Given the description of an element on the screen output the (x, y) to click on. 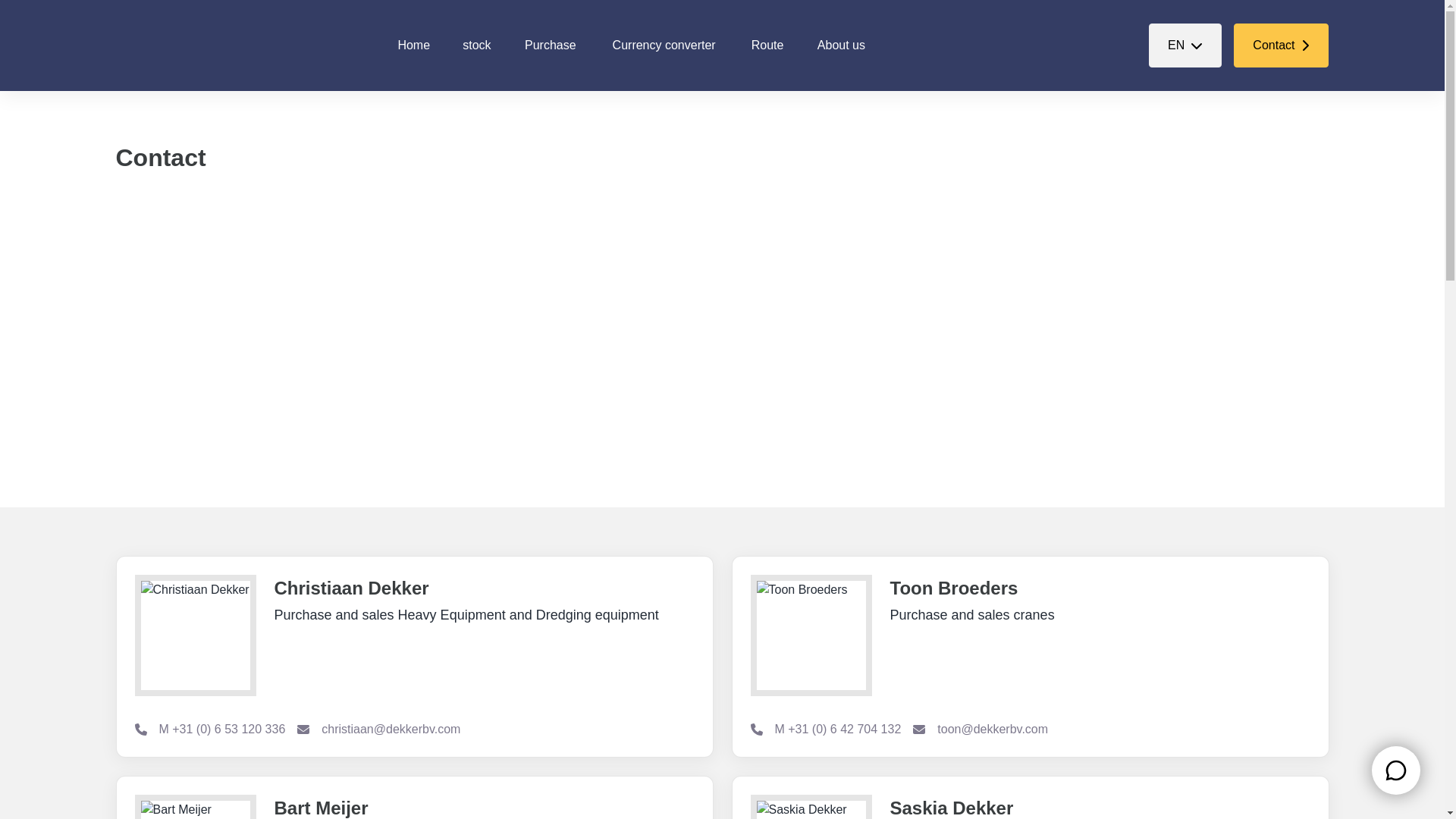
Currency converter (1184, 45)
About us (663, 45)
Route (841, 45)
Home (767, 45)
Contact (413, 45)
Purchase (1280, 45)
stock (550, 45)
